Given the description of an element on the screen output the (x, y) to click on. 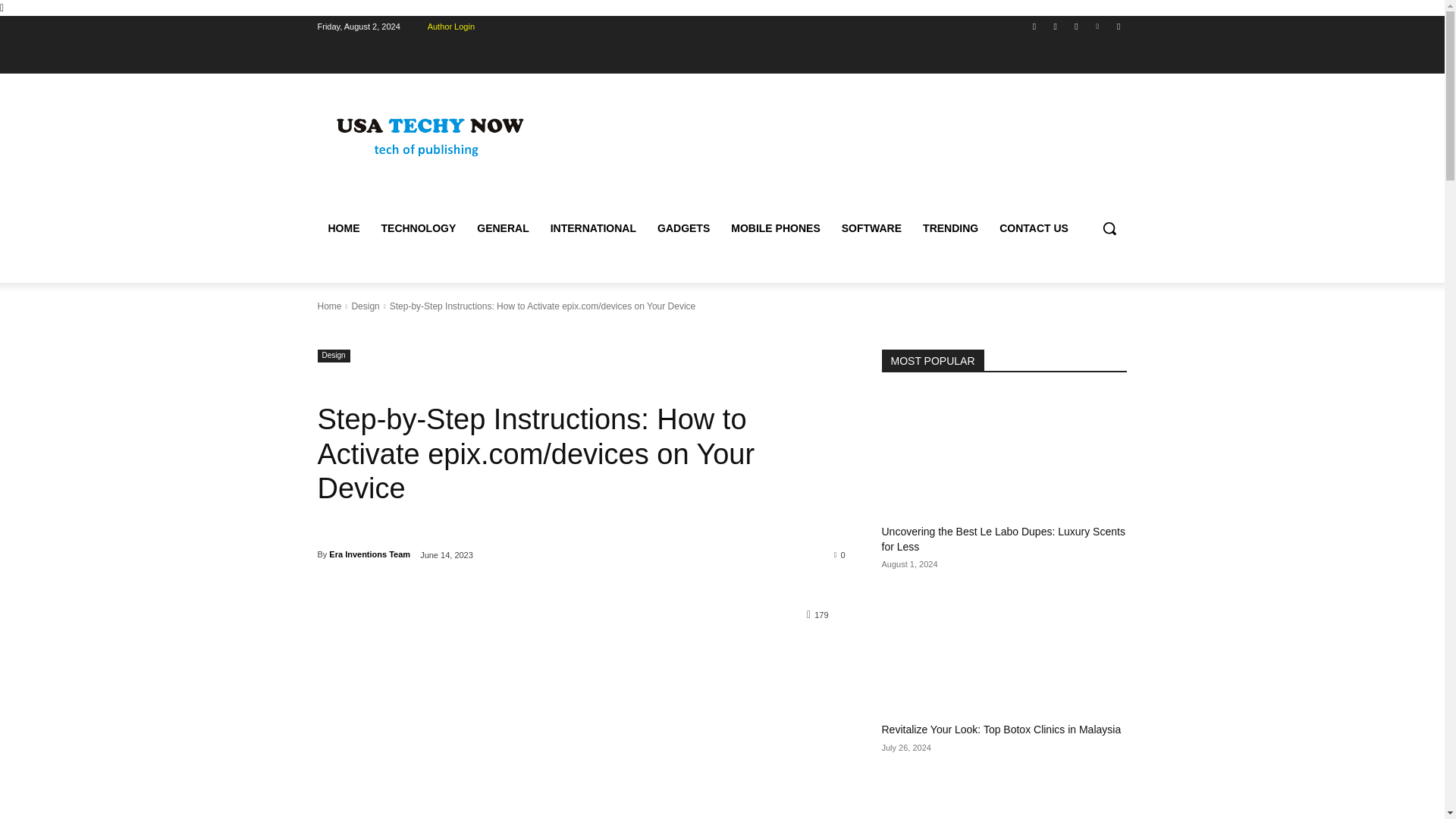
Design (364, 306)
HOME (343, 227)
CONTACT US (1033, 227)
TRENDING (950, 227)
MOBILE PHONES (774, 227)
INTERNATIONAL (593, 227)
Instagram (1055, 27)
Author Login (451, 25)
TECHNOLOGY (417, 227)
Facebook (1034, 27)
Twitter (1075, 27)
Home (328, 306)
GENERAL (501, 227)
Youtube (1117, 27)
SOFTWARE (871, 227)
